Given the description of an element on the screen output the (x, y) to click on. 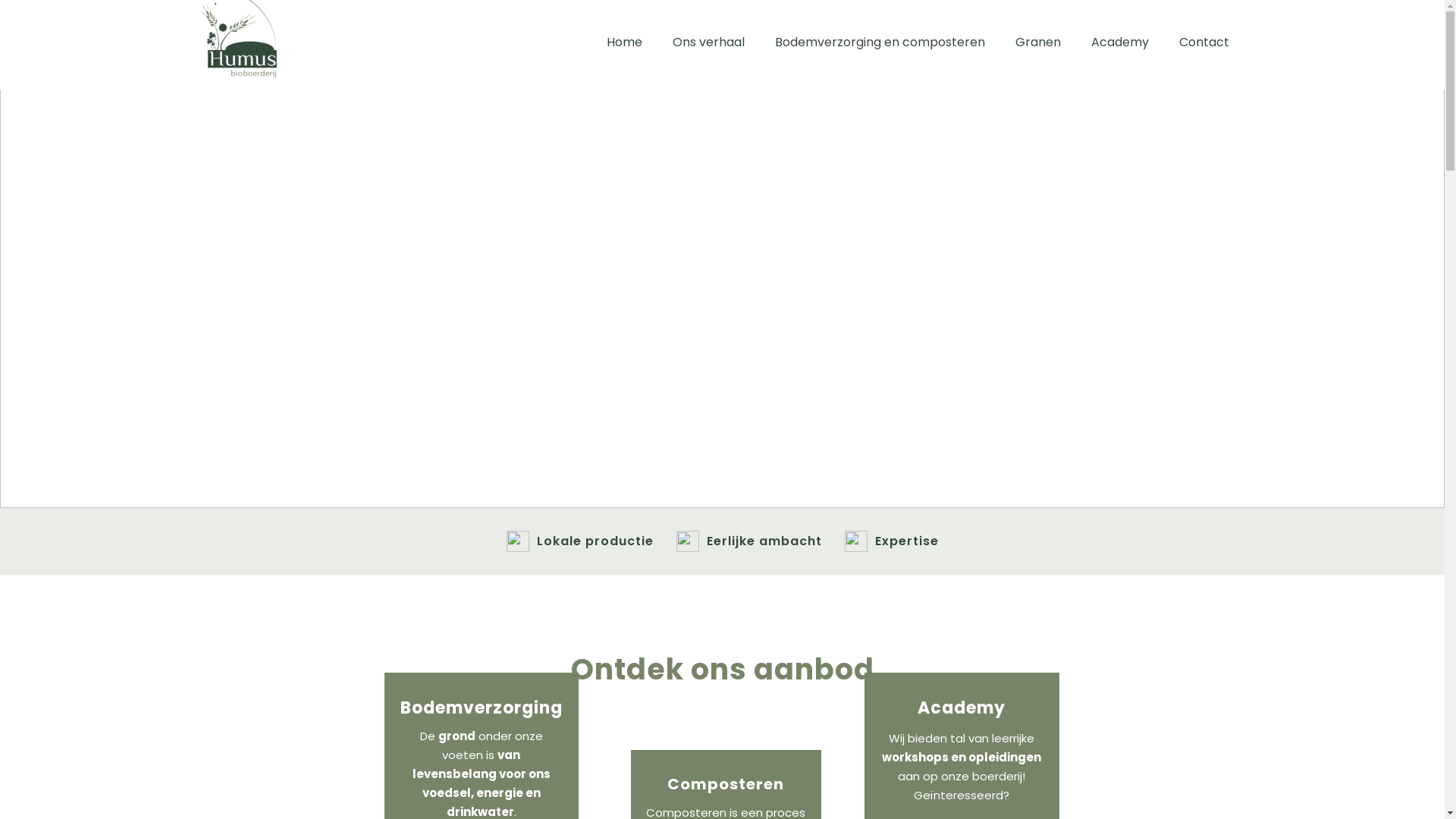
Contact Element type: text (1203, 42)
Home Element type: text (624, 42)
Ons verhaal Element type: text (707, 42)
Bodemverzorging en composteren Element type: text (879, 42)
Academy Element type: text (1119, 42)
Granen Element type: text (1037, 42)
